Given the description of an element on the screen output the (x, y) to click on. 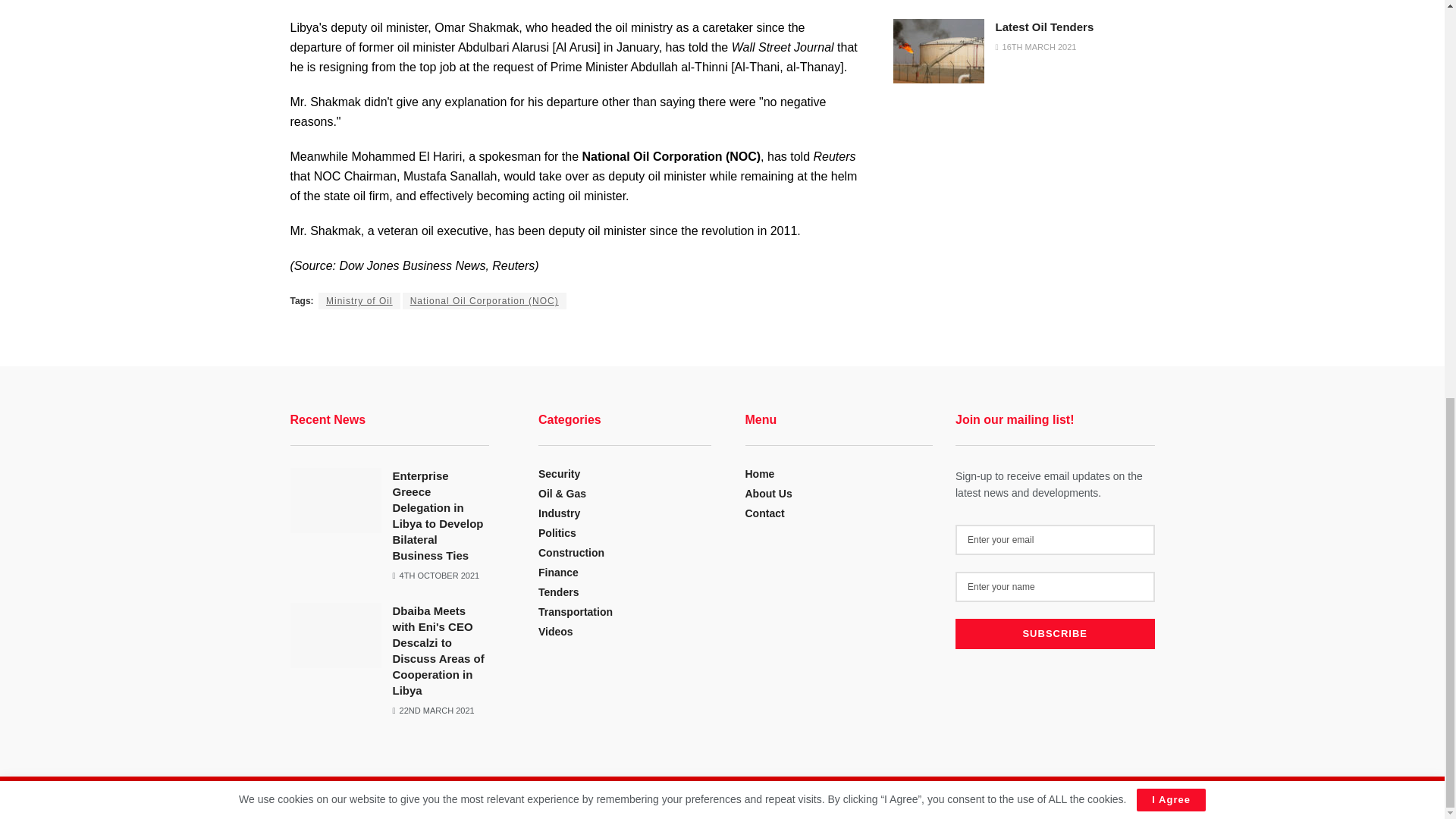
Libya Business News (384, 800)
Enter your email (1054, 539)
Enter your name (1054, 586)
Ministry of Oil (359, 300)
Subscribe (1054, 634)
